Given the description of an element on the screen output the (x, y) to click on. 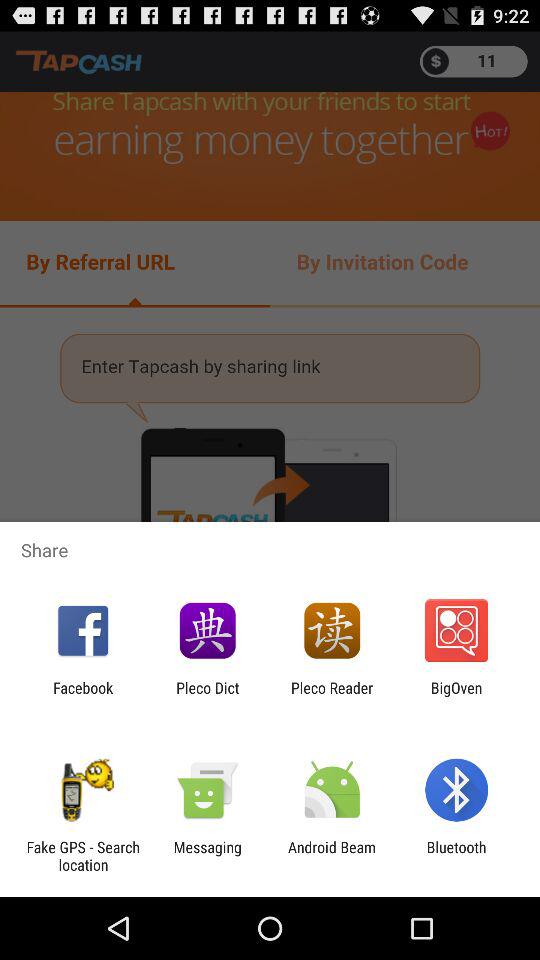
open the icon to the right of fake gps search icon (207, 856)
